Given the description of an element on the screen output the (x, y) to click on. 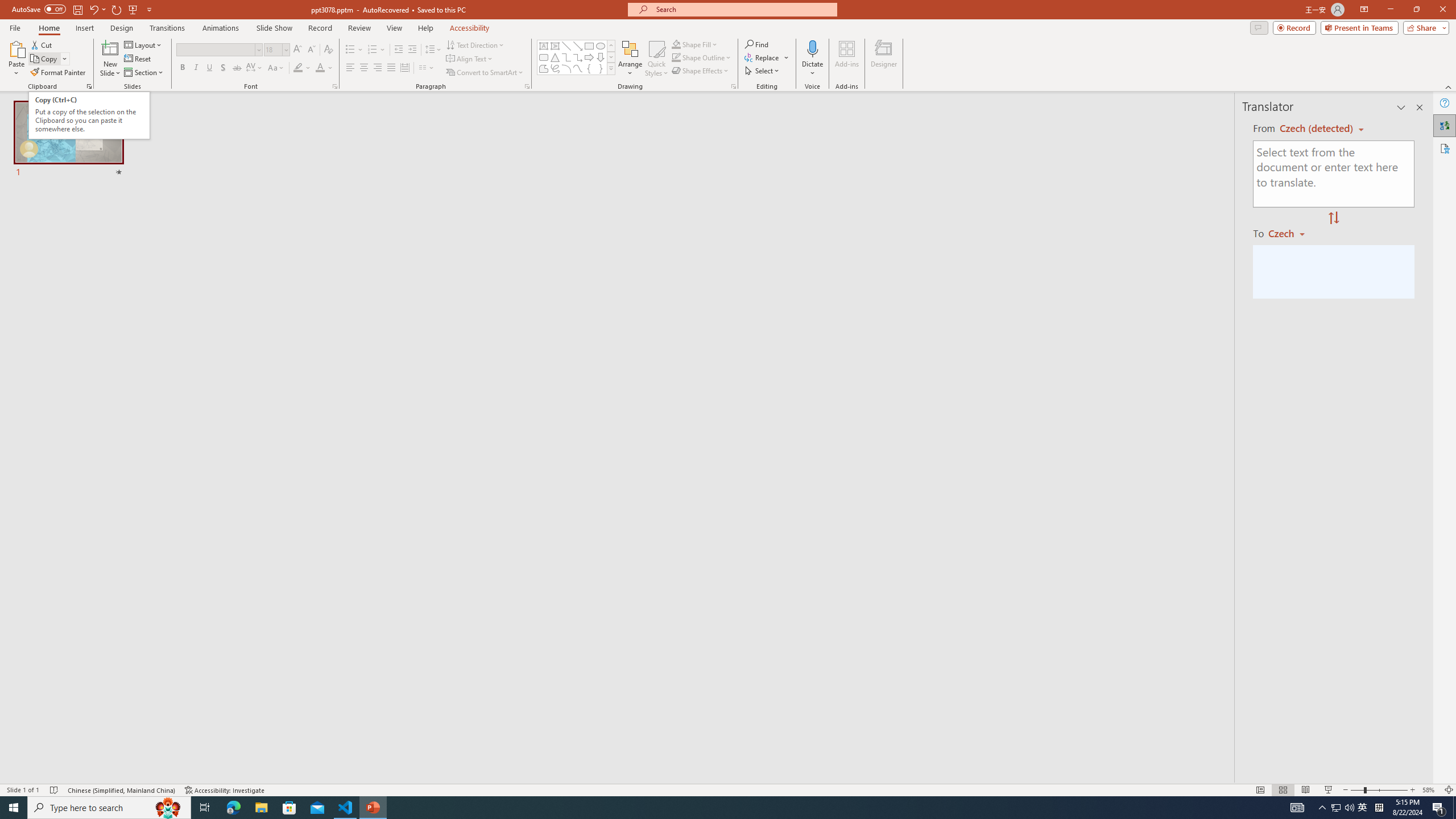
Zoom (1379, 790)
From Beginning (133, 9)
Open (285, 49)
Align Text (470, 58)
Reset (138, 58)
Accessibility (1444, 147)
Align Right (377, 67)
Transitions (167, 28)
Shape Fill Dark Green, Accent 2 (675, 44)
Slide (69, 140)
File Tab (15, 27)
Design (122, 28)
Italic (195, 67)
Justify (390, 67)
